Given the description of an element on the screen output the (x, y) to click on. 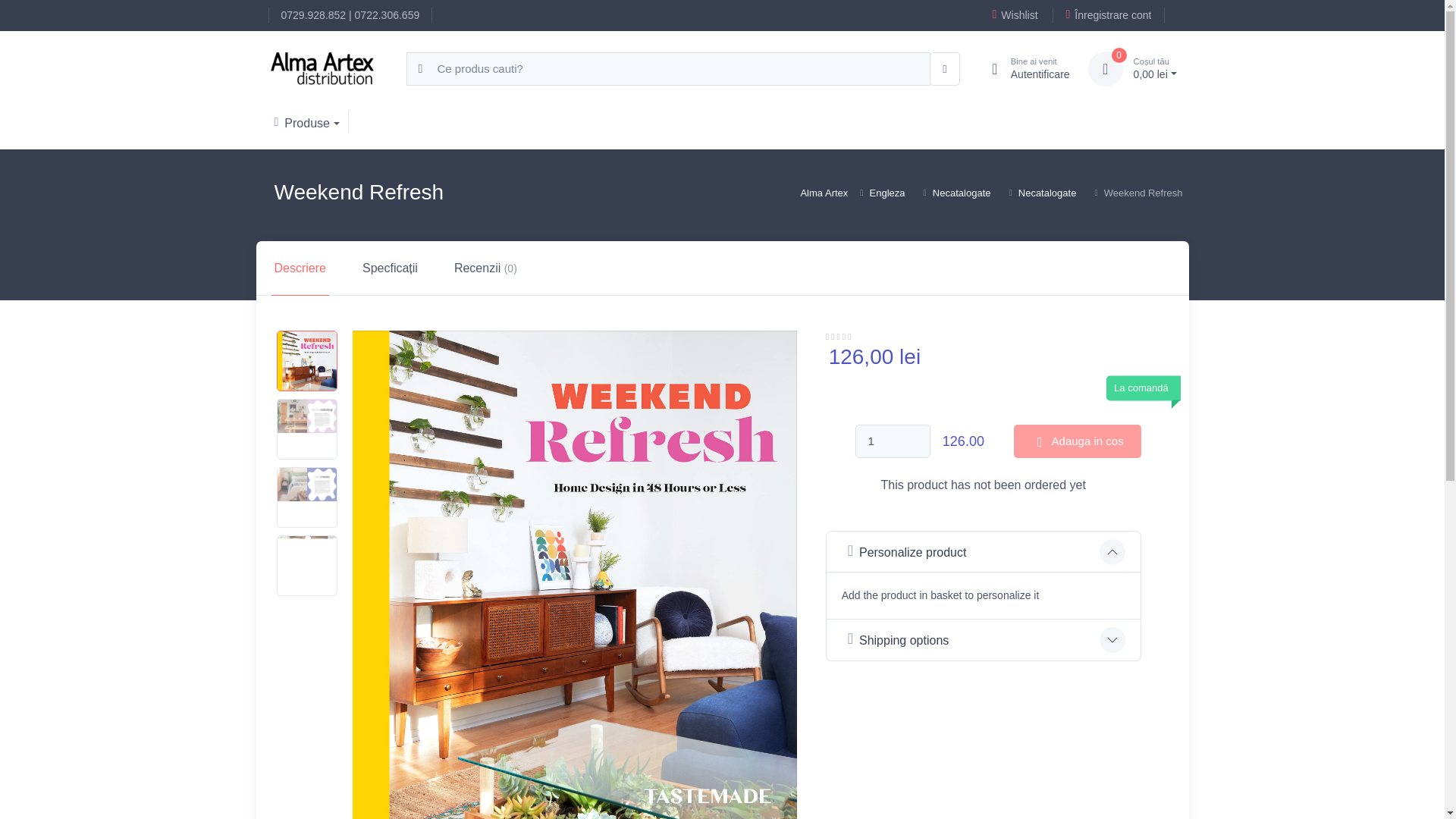
0722.306.659 (1023, 68)
1 (387, 15)
0729.928.852 (893, 441)
0 (313, 15)
Produse (1104, 68)
Wishlist (304, 121)
